Given the description of an element on the screen output the (x, y) to click on. 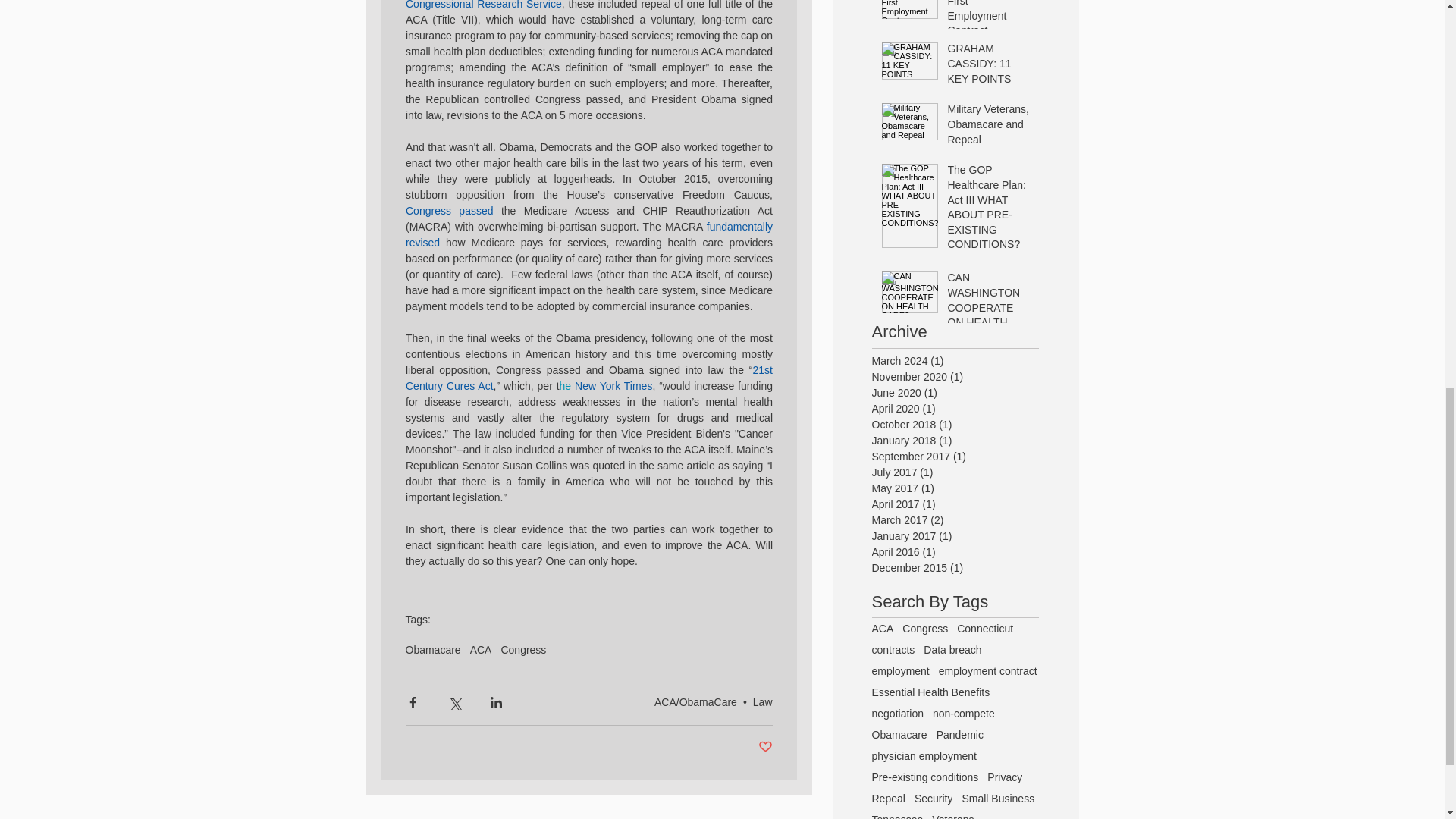
Post not marked as liked (765, 747)
he  (566, 385)
Obamacare (432, 649)
New York Times (613, 385)
Congress (523, 649)
Law (762, 702)
Congressional Research Service (482, 4)
21st Century Cures Act (589, 377)
fundamentally revised (589, 234)
ACA (481, 649)
